Given the description of an element on the screen output the (x, y) to click on. 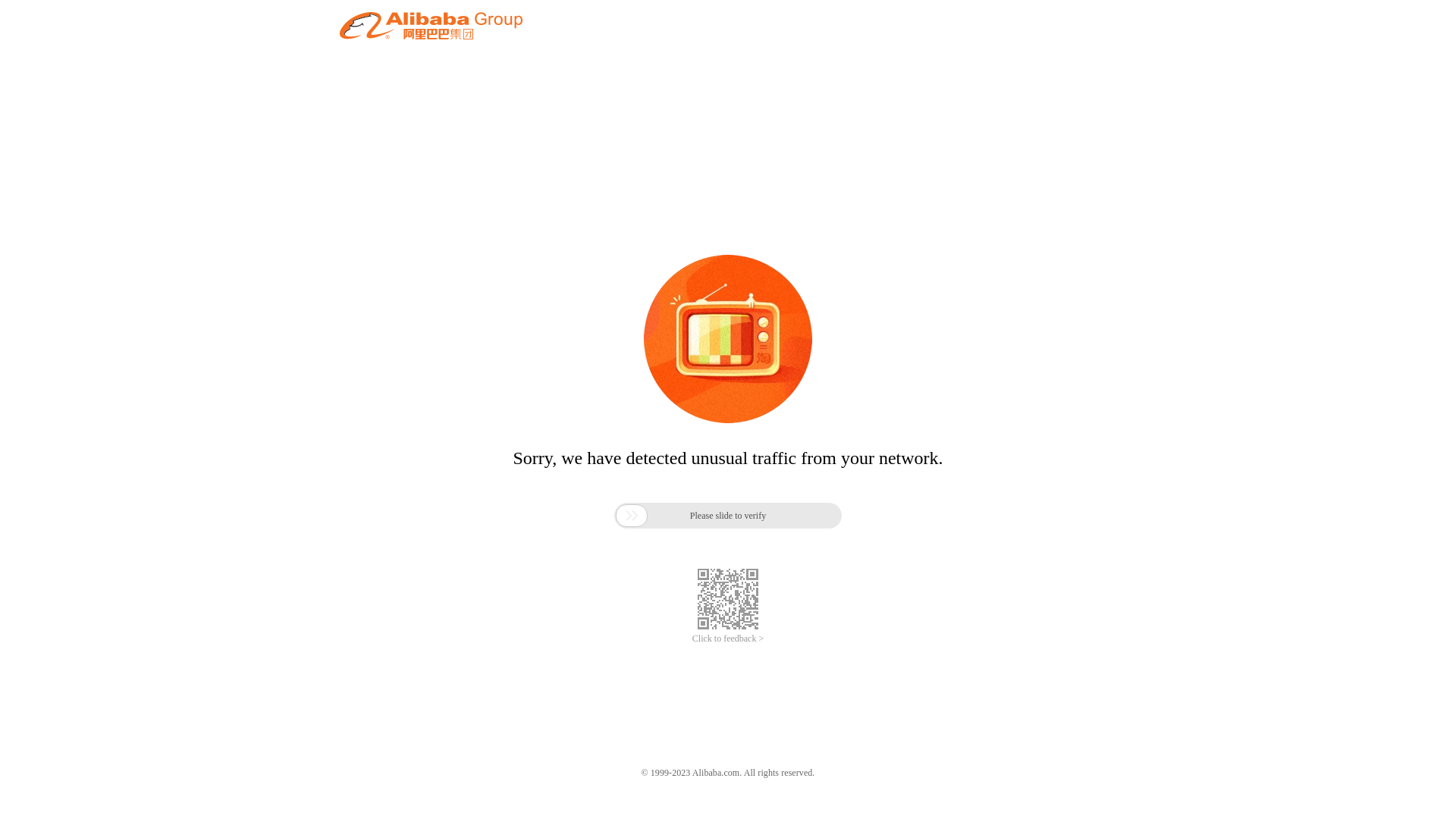
Click to feedback > Element type: text (727, 638)
